Given the description of an element on the screen output the (x, y) to click on. 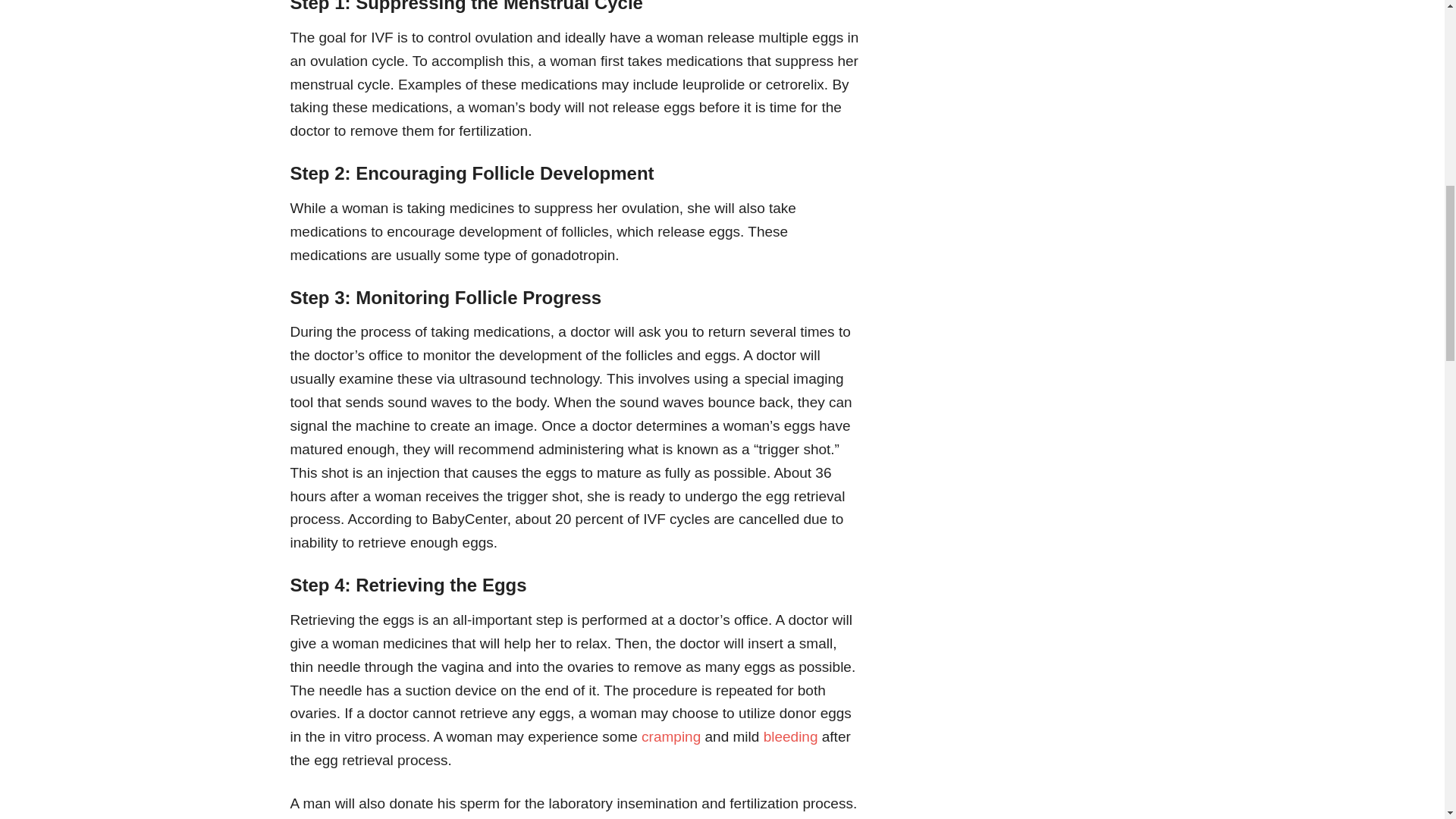
bleeding (790, 736)
cramping (671, 736)
